Given the description of an element on the screen output the (x, y) to click on. 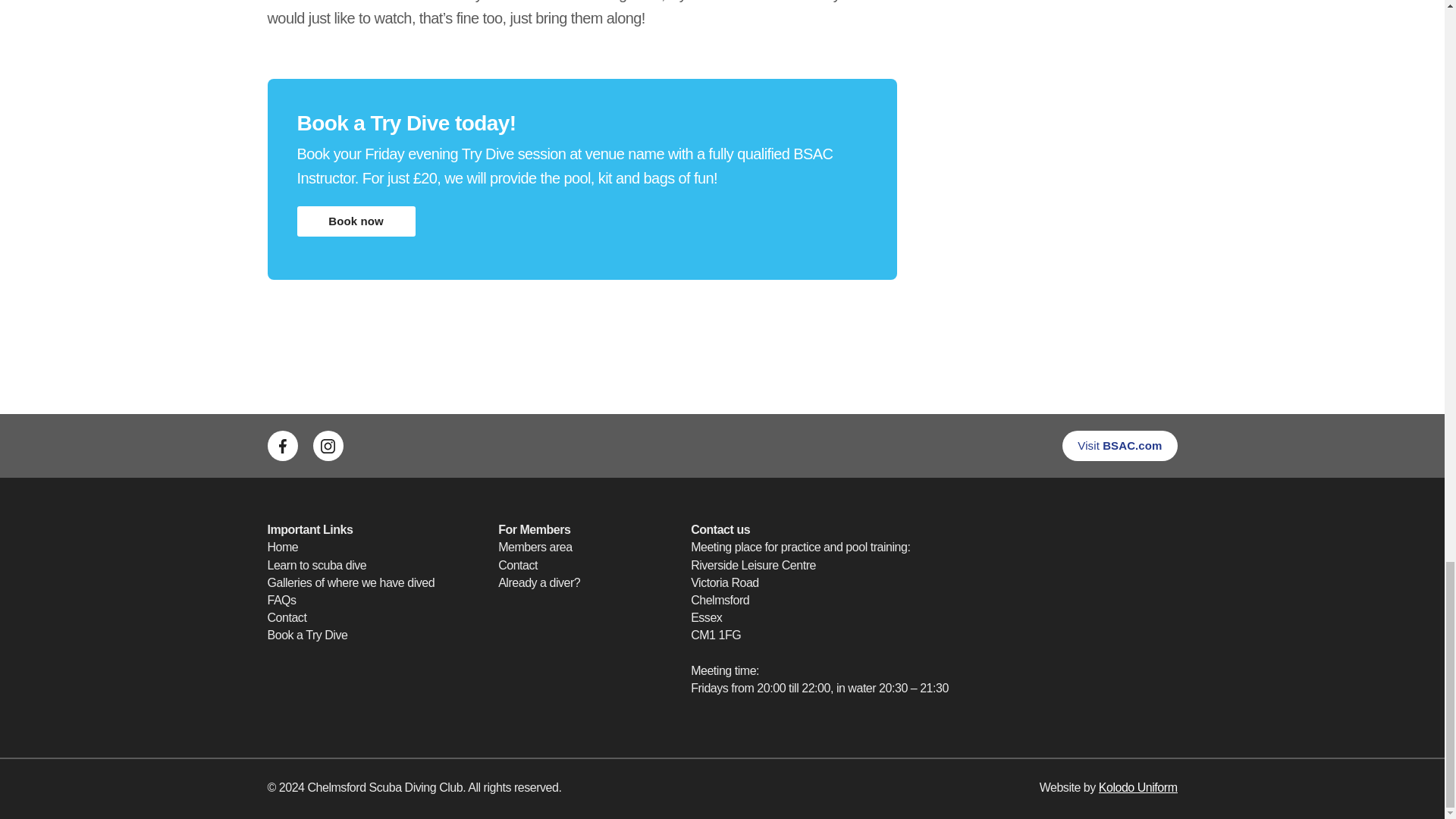
Book now (355, 221)
